Given the description of an element on the screen output the (x, y) to click on. 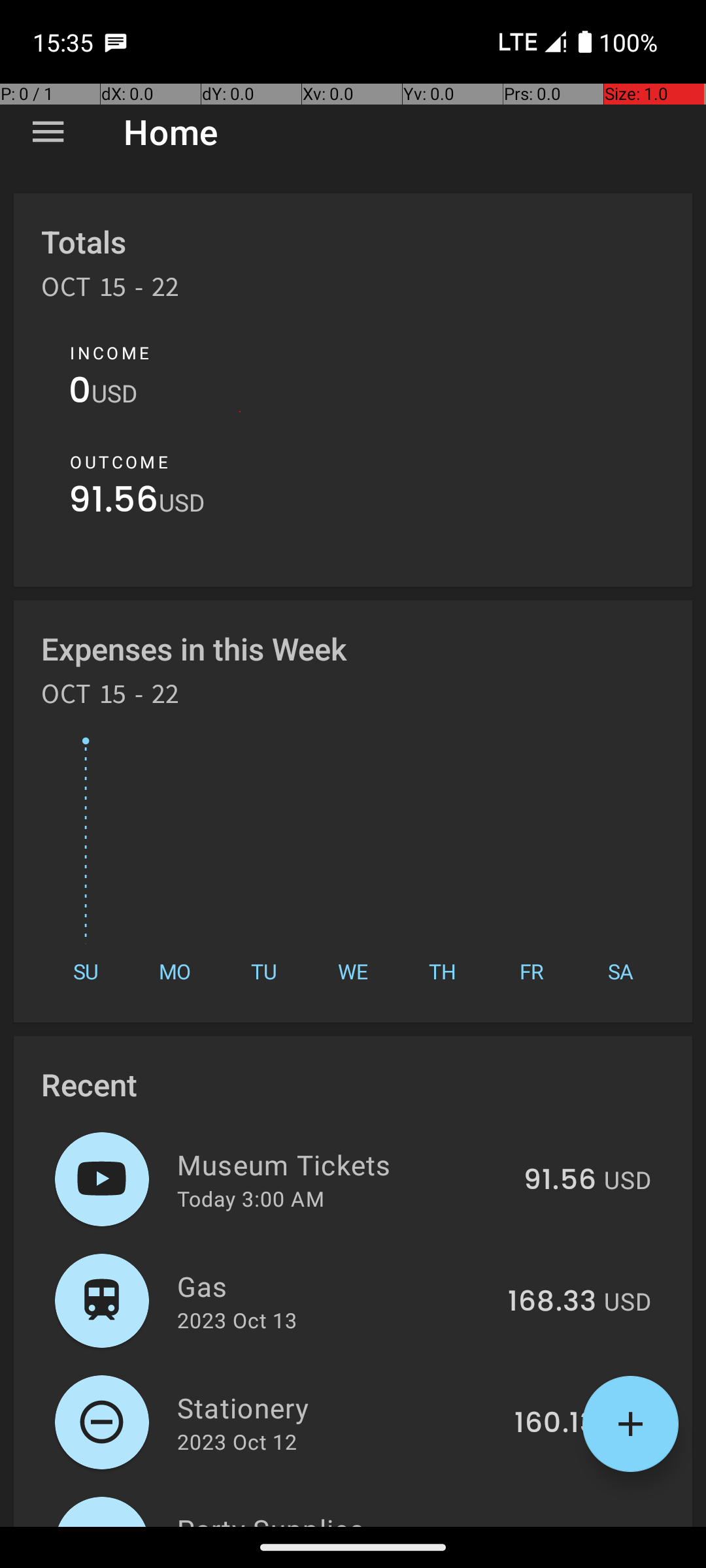
91.56 Element type: android.widget.TextView (113, 502)
Museum Tickets Element type: android.widget.TextView (342, 1164)
Today 3:00 AM Element type: android.widget.TextView (250, 1198)
Gas Element type: android.widget.TextView (334, 1285)
168.33 Element type: android.widget.TextView (551, 1301)
Stationery Element type: android.widget.TextView (338, 1407)
160.13 Element type: android.widget.TextView (554, 1423)
Party Supplies Element type: android.widget.TextView (332, 1518)
302.52 Element type: android.widget.TextView (549, 1524)
